Given the description of an element on the screen output the (x, y) to click on. 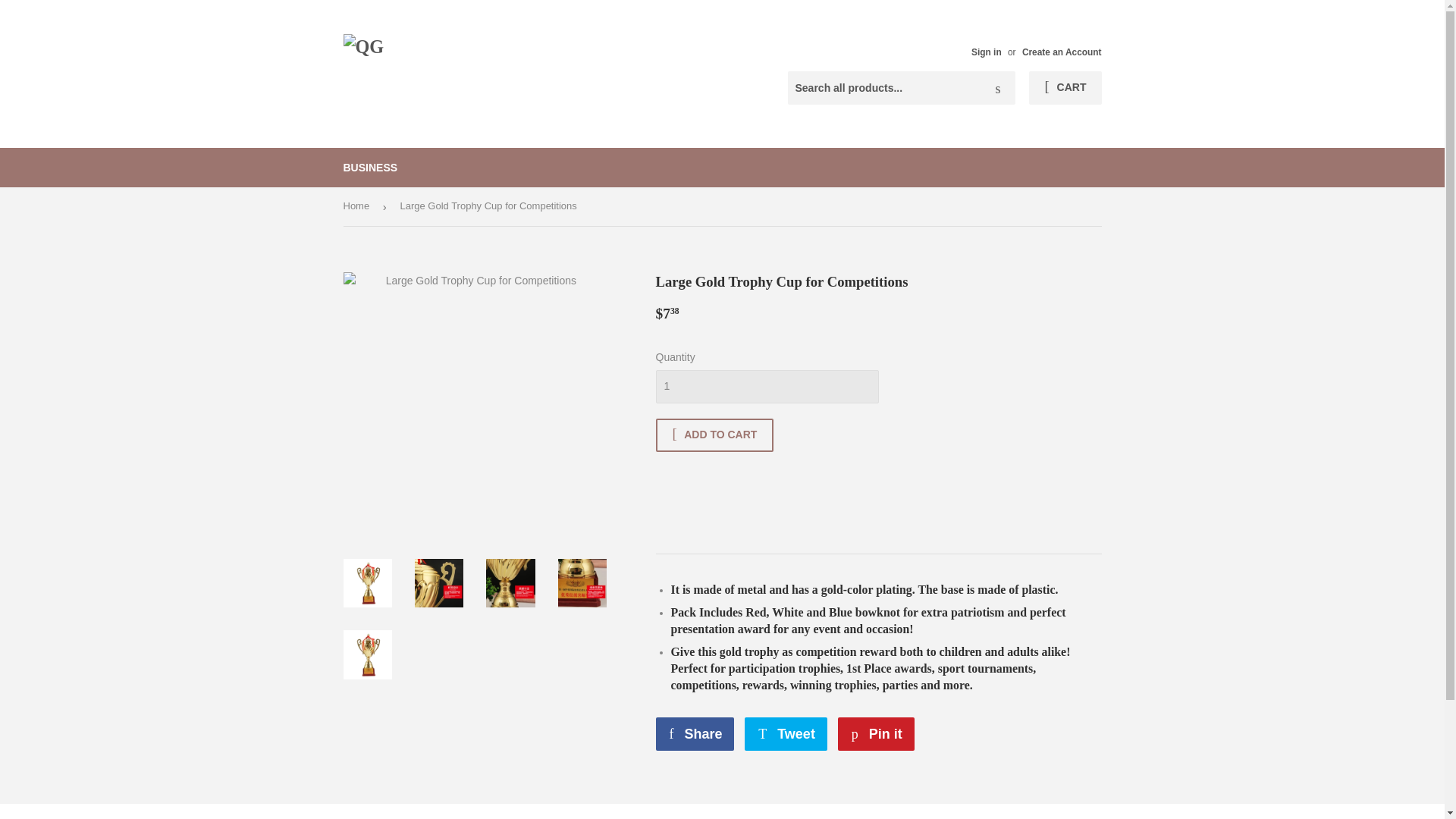
Sign in (986, 51)
BUSINESS (876, 734)
Tweet on Twitter (370, 167)
CART (785, 734)
Search (785, 734)
1 (1064, 87)
Pin on Pinterest (997, 88)
ADD TO CART (766, 386)
